Given the description of an element on the screen output the (x, y) to click on. 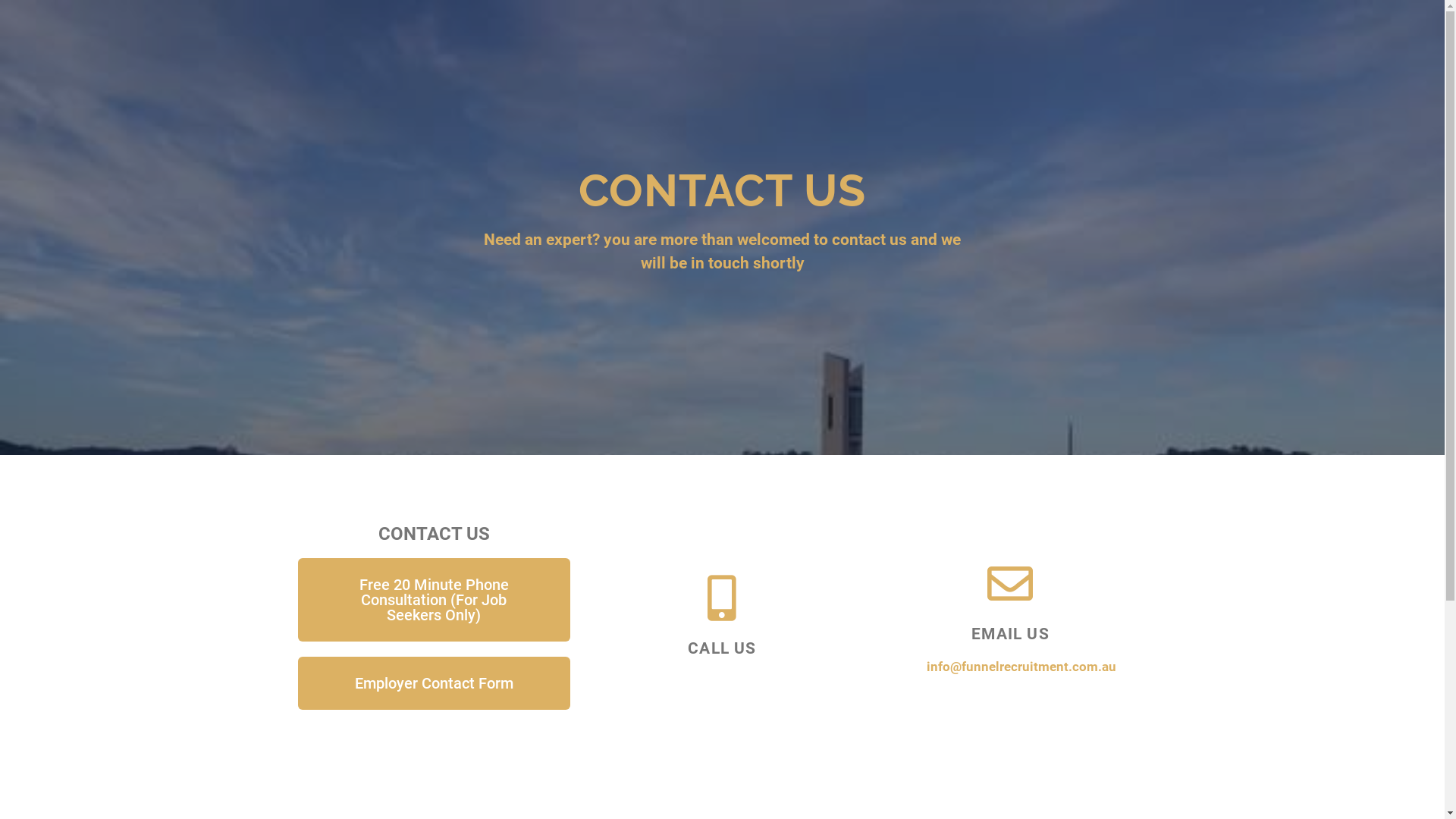
Free 20 Minute Phone Consultation (For Job Seekers Only) Element type: text (433, 599)
Employer Contact Form Element type: text (433, 682)
info@funnelrecruitment.com.au Element type: text (1021, 666)
